Given the description of an element on the screen output the (x, y) to click on. 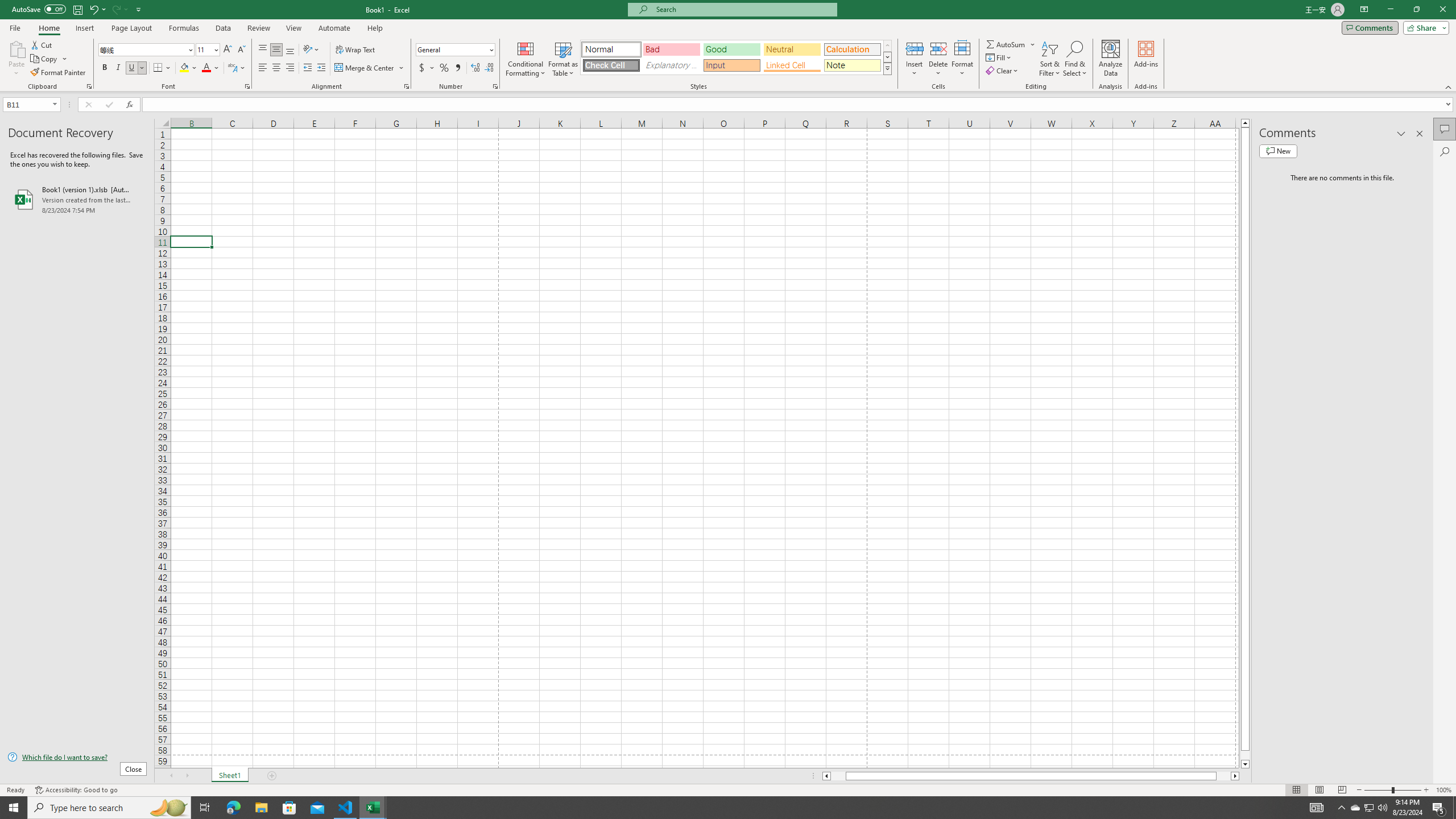
Accounting Number Format (426, 67)
Format Cell Number (494, 85)
Increase Indent (320, 67)
Increase Font Size (227, 49)
Percent Style (443, 67)
Center (276, 67)
Font (147, 49)
Bottom Align (290, 49)
